Given the description of an element on the screen output the (x, y) to click on. 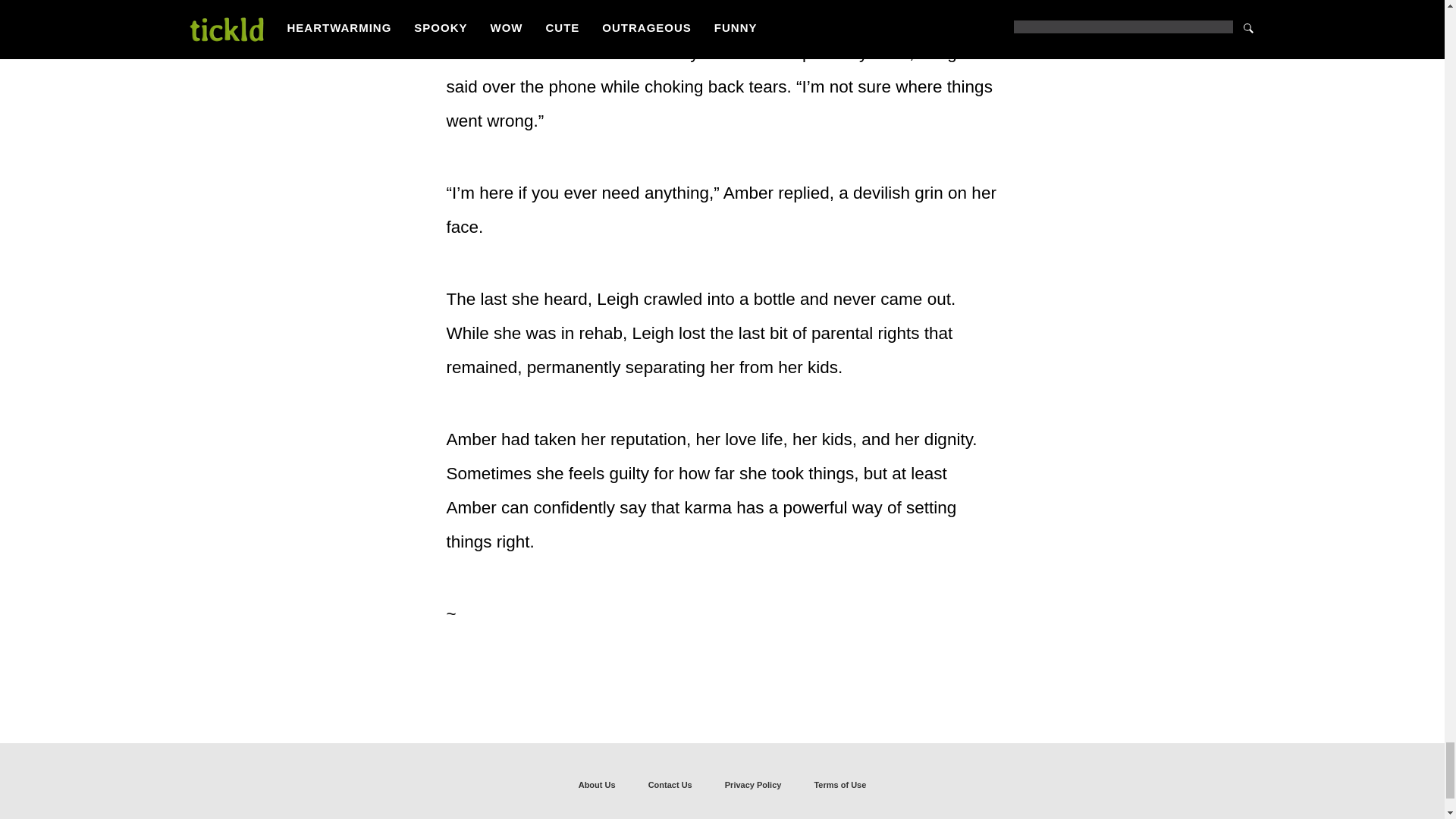
Privacy Policy (753, 784)
Contact Us (670, 784)
About Us (596, 784)
